Given the description of an element on the screen output the (x, y) to click on. 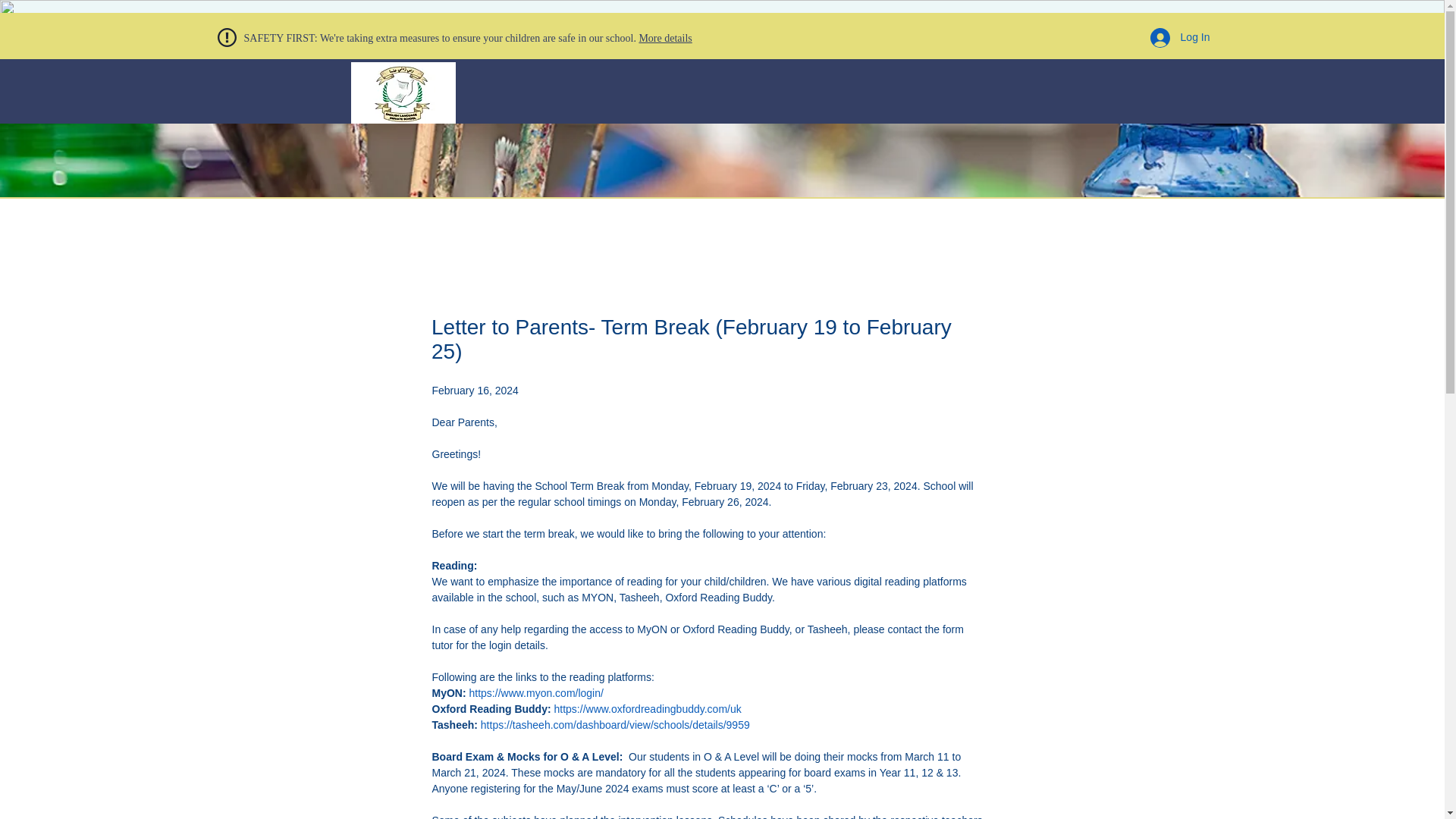
HOME (515, 143)
Summer Challenge 2024 (969, 143)
COP28 (576, 143)
OUR SCHOOL (655, 143)
More details (665, 38)
ENGLISH LANGUAGE PRIVATE SCHOOL (401, 146)
COMMUNICATION (762, 143)
POLICIES (858, 143)
Log In (1180, 37)
